Given the description of an element on the screen output the (x, y) to click on. 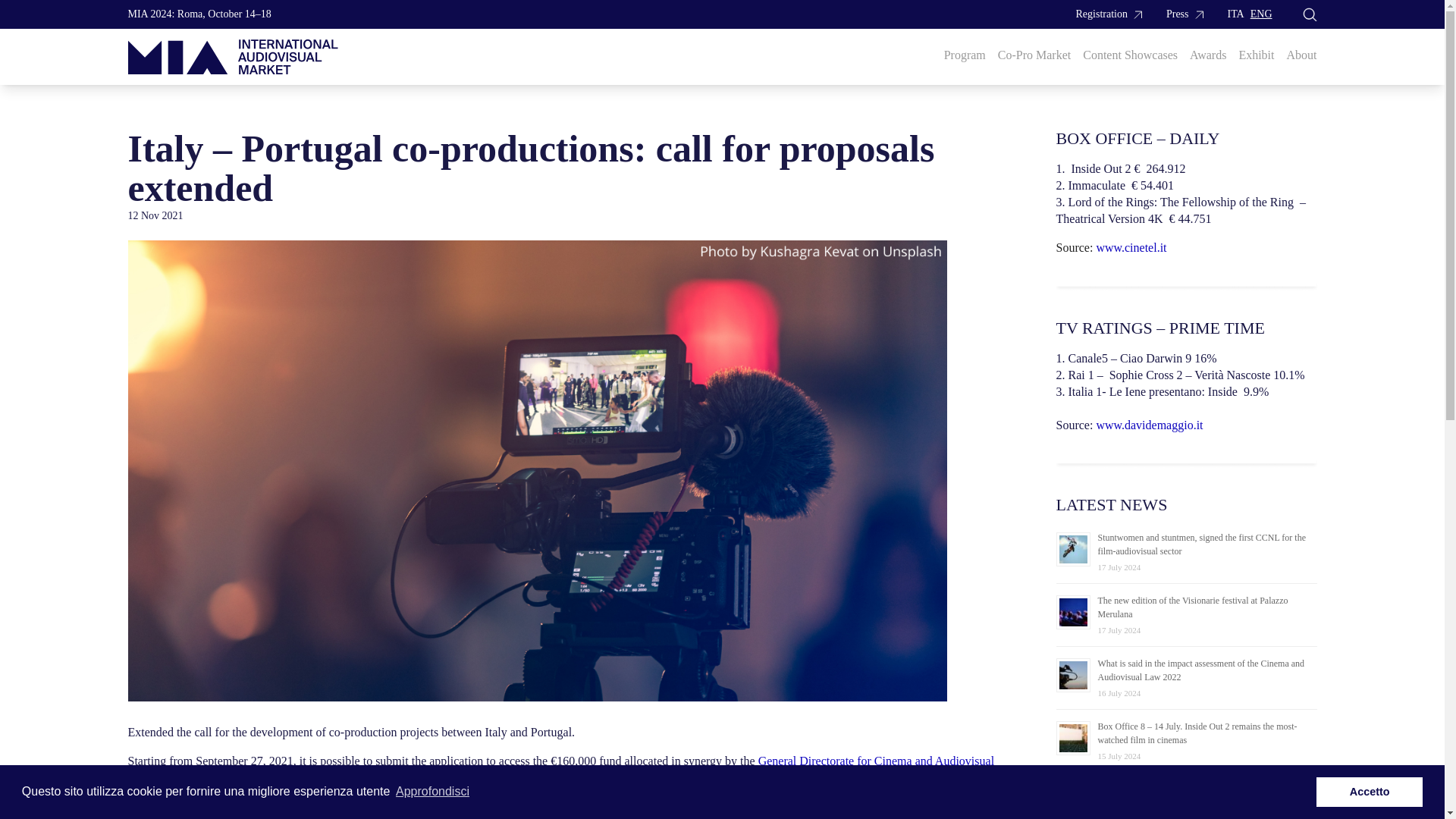
Awards (1207, 54)
Approfondisci (432, 791)
Press (1185, 14)
Co-Pro Market (1033, 54)
Content Showcases (1130, 54)
ENG (1261, 13)
ITA (1235, 13)
Exhibit (1256, 54)
Registration (1108, 14)
Accetto (1369, 791)
About (1300, 54)
Program (964, 54)
